Given the description of an element on the screen output the (x, y) to click on. 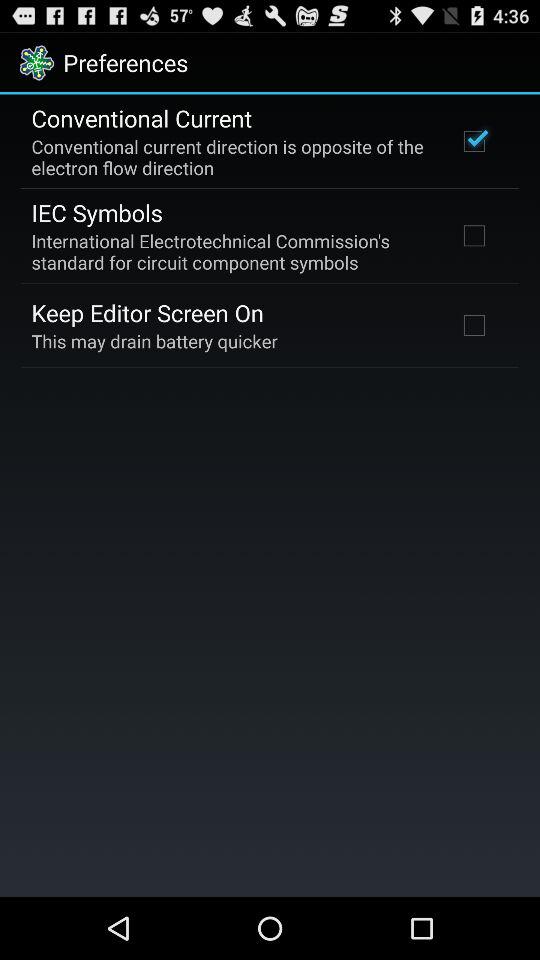
press icon below conventional current direction (96, 212)
